Given the description of an element on the screen output the (x, y) to click on. 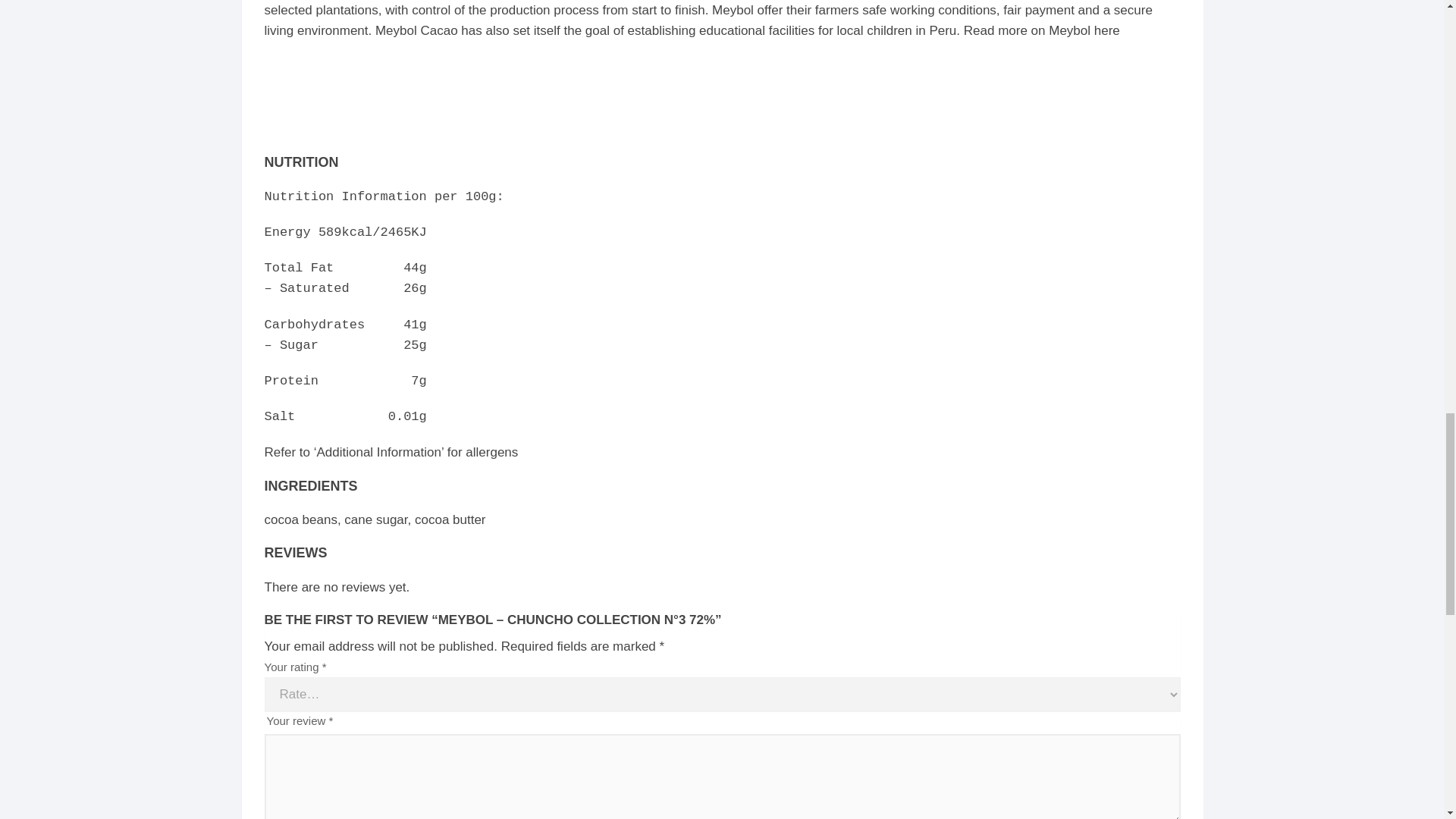
Meybol Cacao (320, 97)
